Given the description of an element on the screen output the (x, y) to click on. 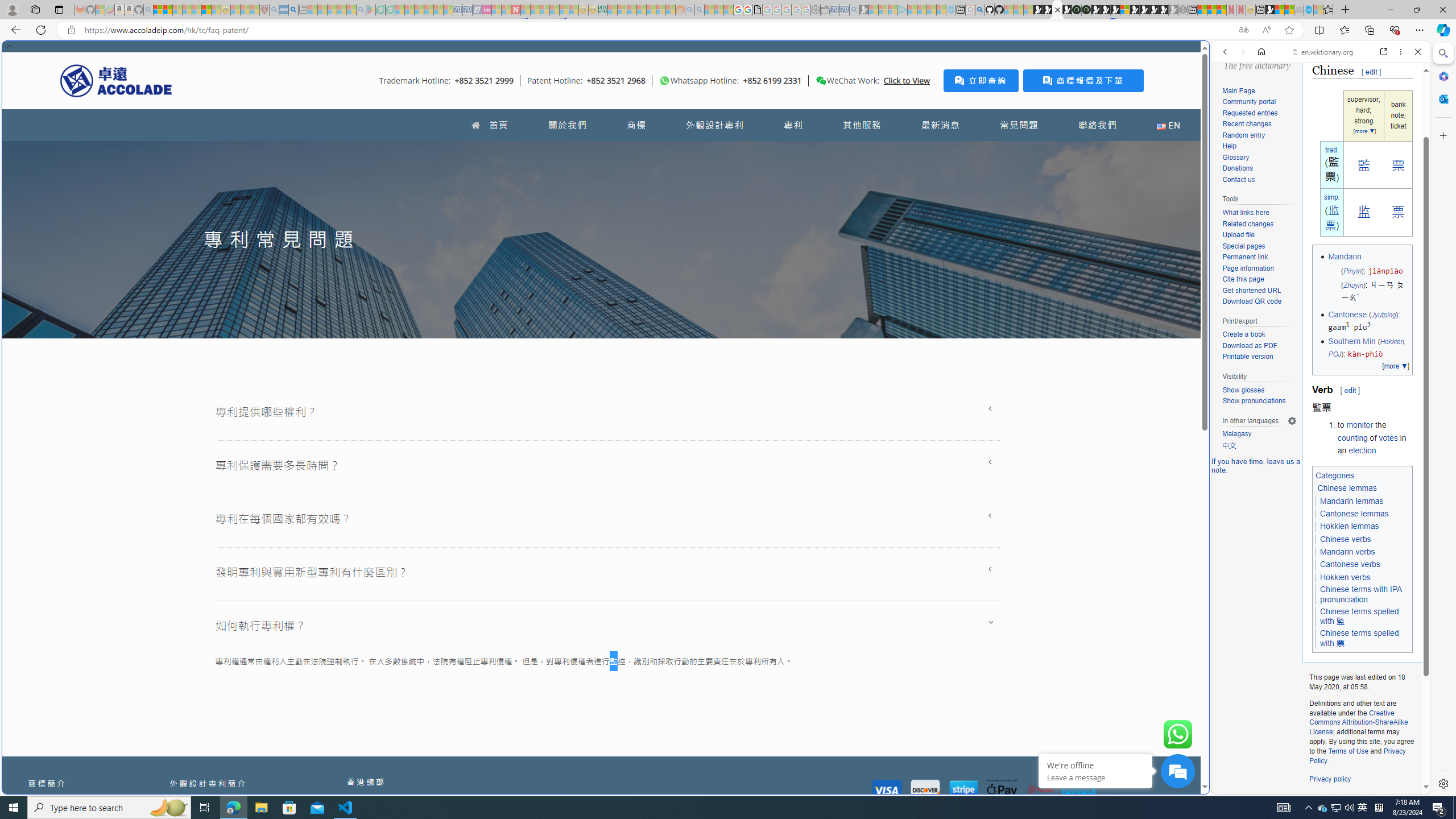
en.wiktionary.org (1323, 51)
Cantonese lemmas (1354, 513)
google - Search - Sleeping (360, 9)
Community portal (1259, 102)
